Given the description of an element on the screen output the (x, y) to click on. 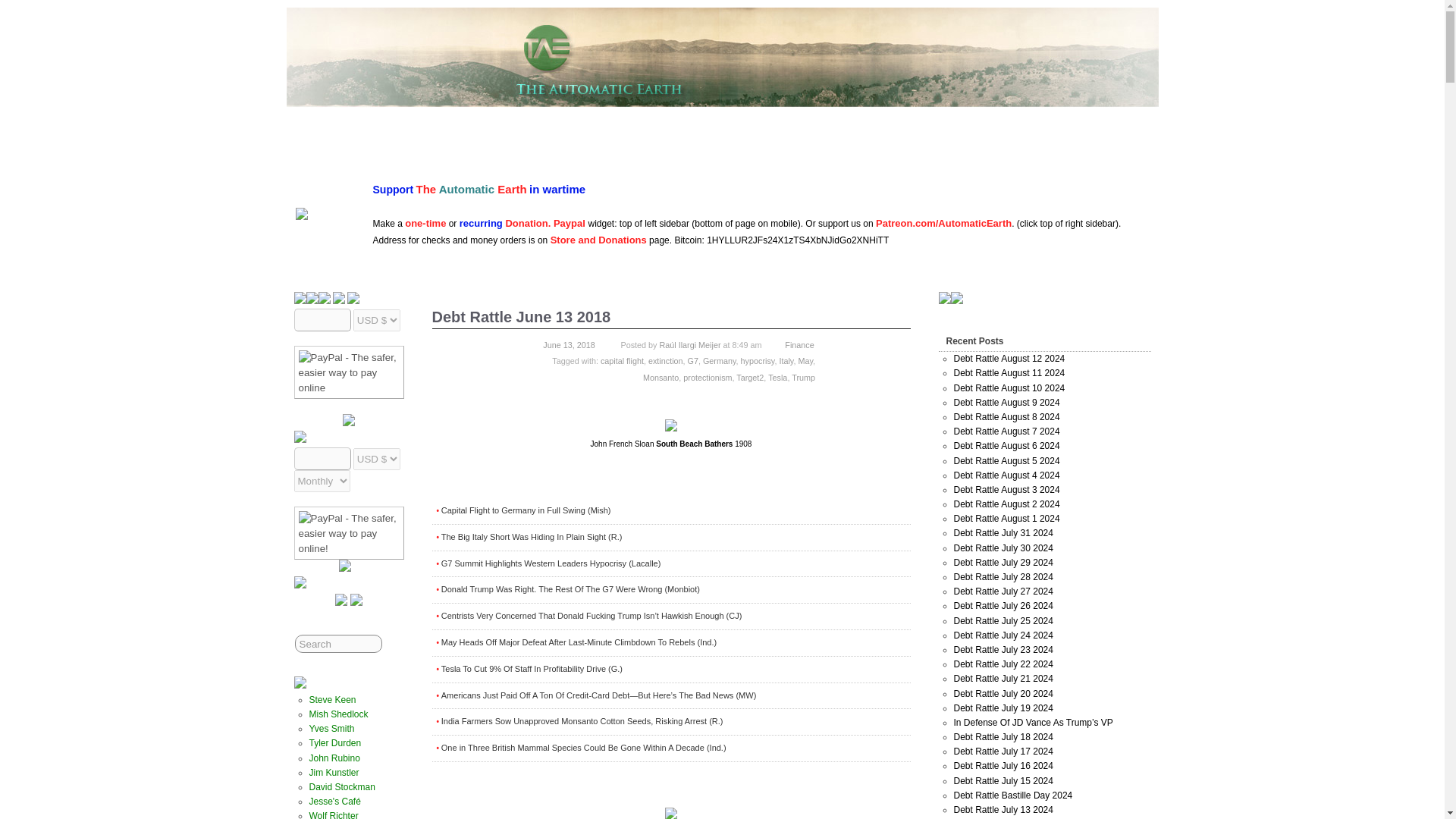
Store And Donations (916, 143)
Trump (803, 377)
capital flight (621, 360)
hypocrisy (757, 360)
Tesla (777, 377)
The Automatic Earth (498, 143)
Debt Rattle June 13 2018 (521, 316)
protectionism (707, 377)
G7 (692, 360)
The Automatic Earth (860, 36)
